Given the description of an element on the screen output the (x, y) to click on. 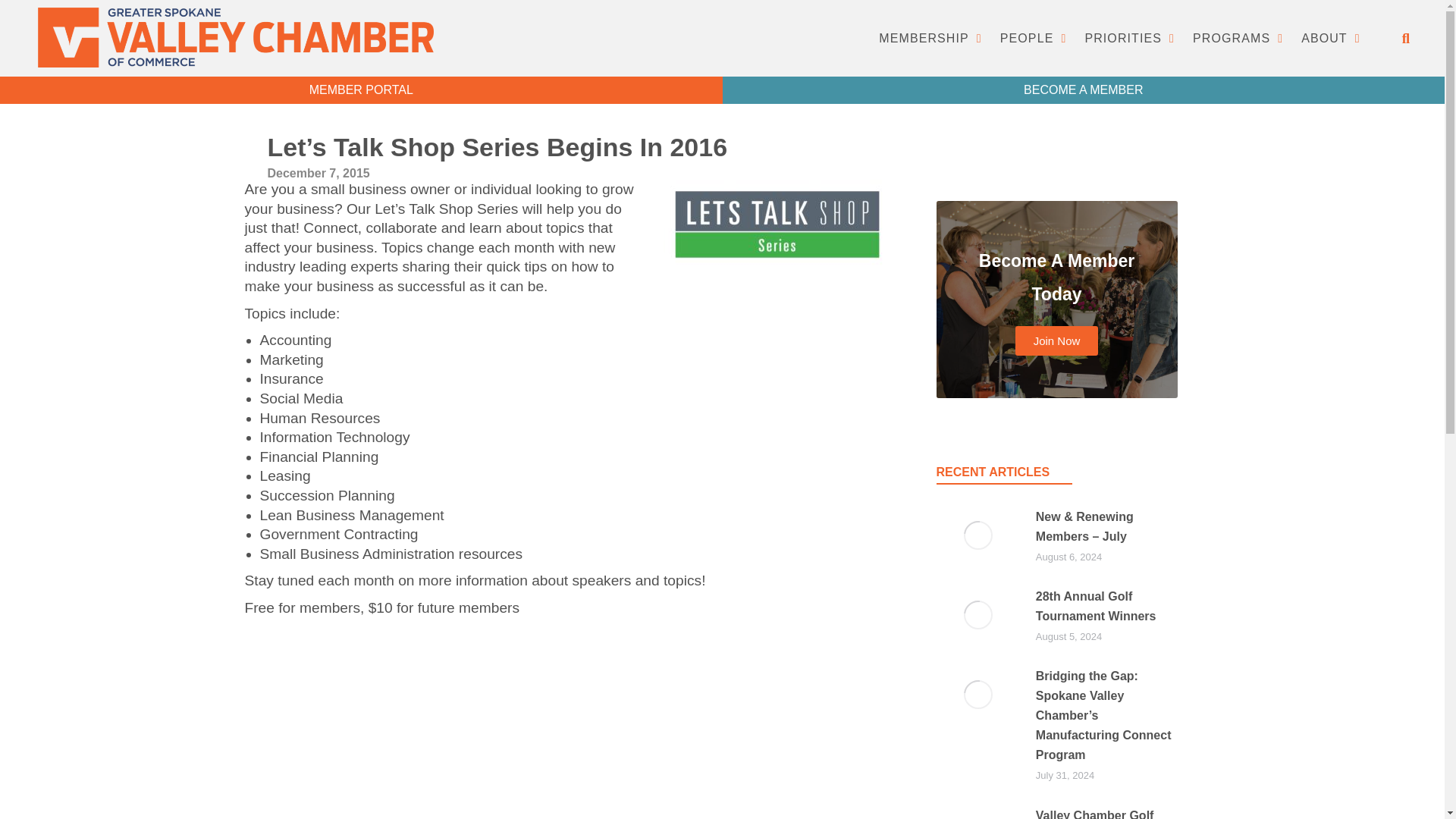
28th Annual Golf Tournament Winners (1106, 606)
PROGRAMS (1237, 38)
ABOUT (1331, 38)
PRIORITIES (1129, 38)
PEOPLE (1033, 38)
MEMBERSHIP (930, 38)
Valley Chamber Golf Raffle Prizes (1106, 812)
